Given the description of an element on the screen output the (x, y) to click on. 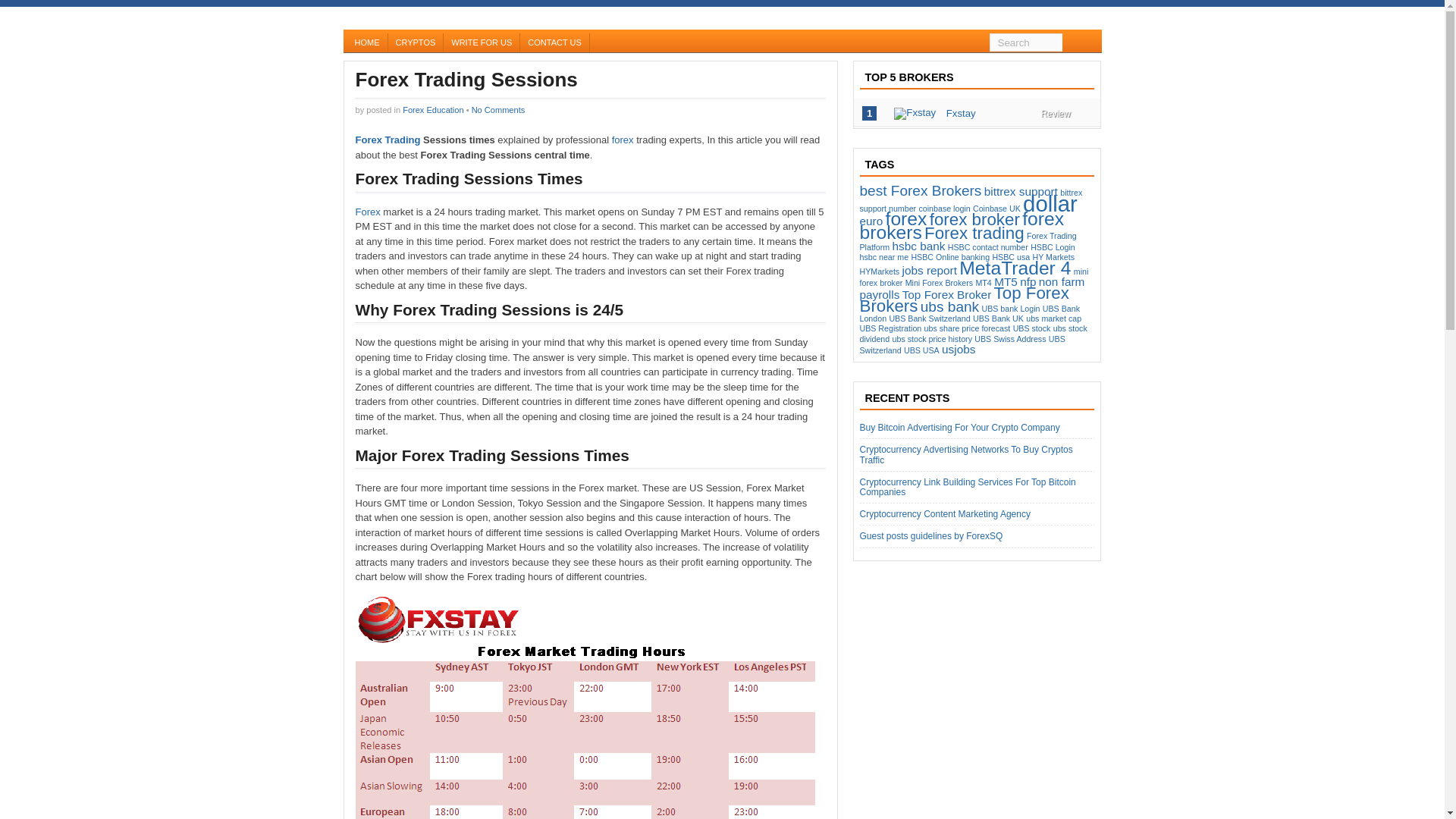
dollar (1050, 203)
Forex (368, 211)
Search (1024, 42)
Forex Trading Platform (968, 240)
Search (1024, 42)
hsbc bank (918, 245)
forex brokers (962, 225)
forex (622, 139)
HSBC contact number (987, 246)
coinbase login (943, 207)
Forex trading (974, 232)
Fxstay (960, 112)
hsbc near me (884, 256)
HOME (367, 42)
No Comments (498, 108)
